Given the description of an element on the screen output the (x, y) to click on. 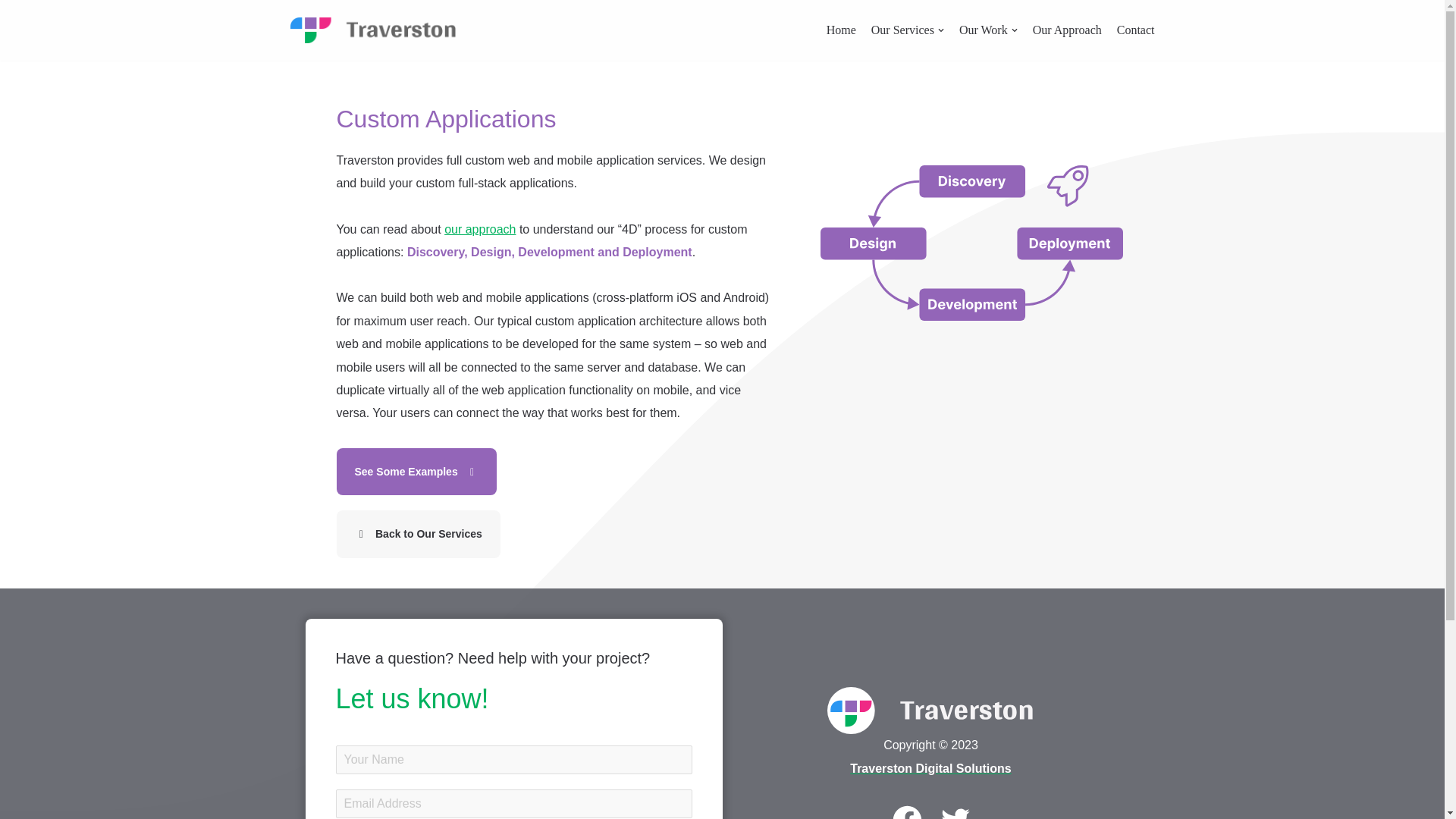
Our Approach (1067, 30)
Our Services (906, 30)
See Some Examples (416, 471)
Contact (1135, 30)
Skip to content (11, 31)
Home (841, 30)
Traverston (373, 30)
our approach (479, 228)
Traverston Digital Solutions (930, 768)
Back to Our Services (418, 533)
Our Work (988, 30)
